Given the description of an element on the screen output the (x, y) to click on. 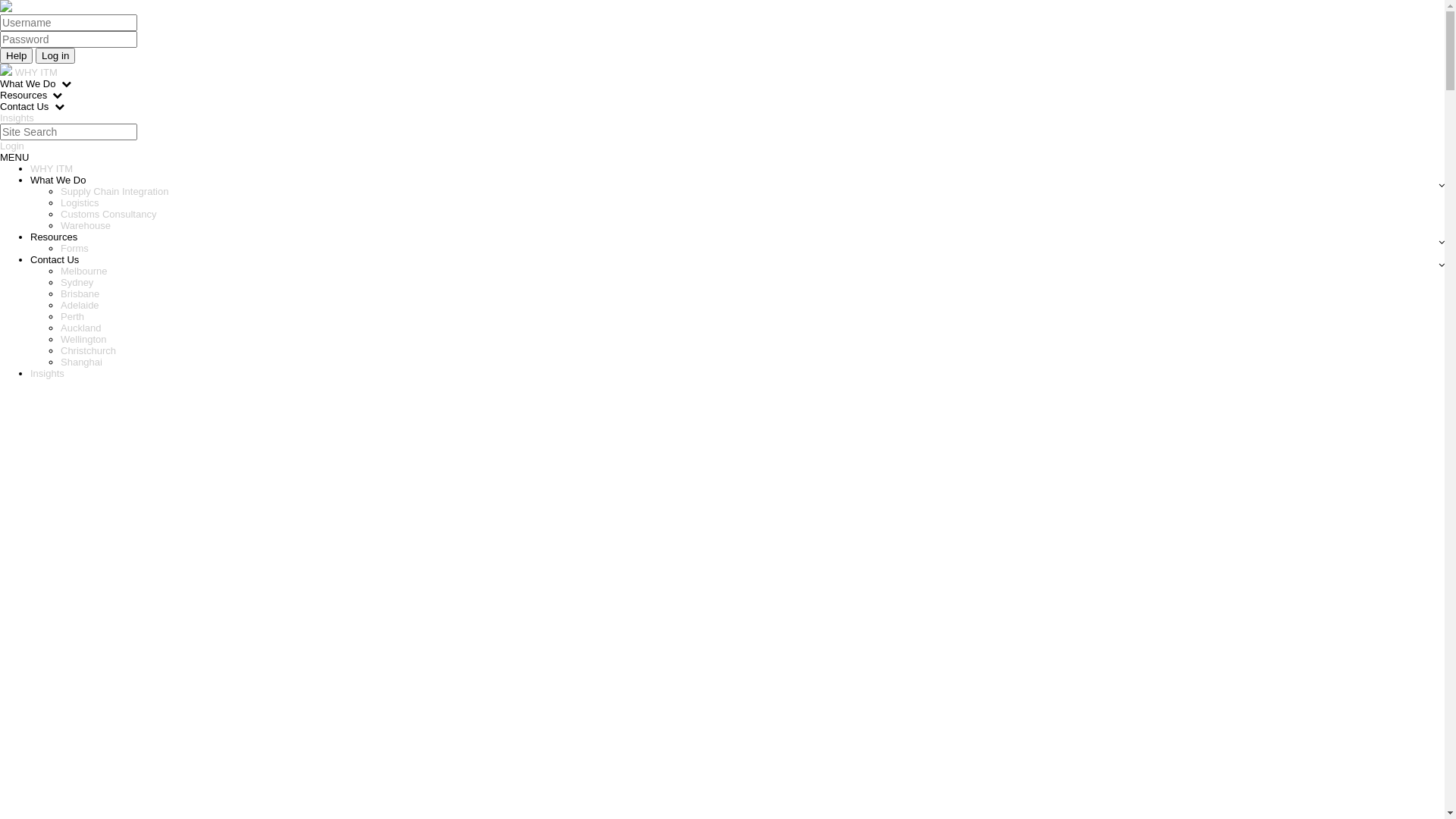
WHY ITM Element type: text (36, 72)
Help Element type: text (16, 55)
Wellington Element type: text (83, 339)
Logistics Element type: text (79, 202)
Warehouse Element type: text (85, 225)
Forms Element type: text (74, 248)
Shanghai Element type: text (81, 361)
Perth Element type: text (72, 316)
Supply Chain Integration Element type: text (114, 191)
Brisbane Element type: text (79, 293)
Auckland Element type: text (80, 327)
Customs Consultancy Element type: text (108, 213)
Log in Element type: text (55, 55)
Insights Element type: text (17, 117)
Melbourne Element type: text (83, 270)
Christchurch Element type: text (88, 350)
Adelaide Element type: text (79, 304)
Insights Element type: text (47, 373)
Sydney Element type: text (76, 282)
Login Element type: text (12, 145)
WHY ITM Element type: text (51, 168)
